Given the description of an element on the screen output the (x, y) to click on. 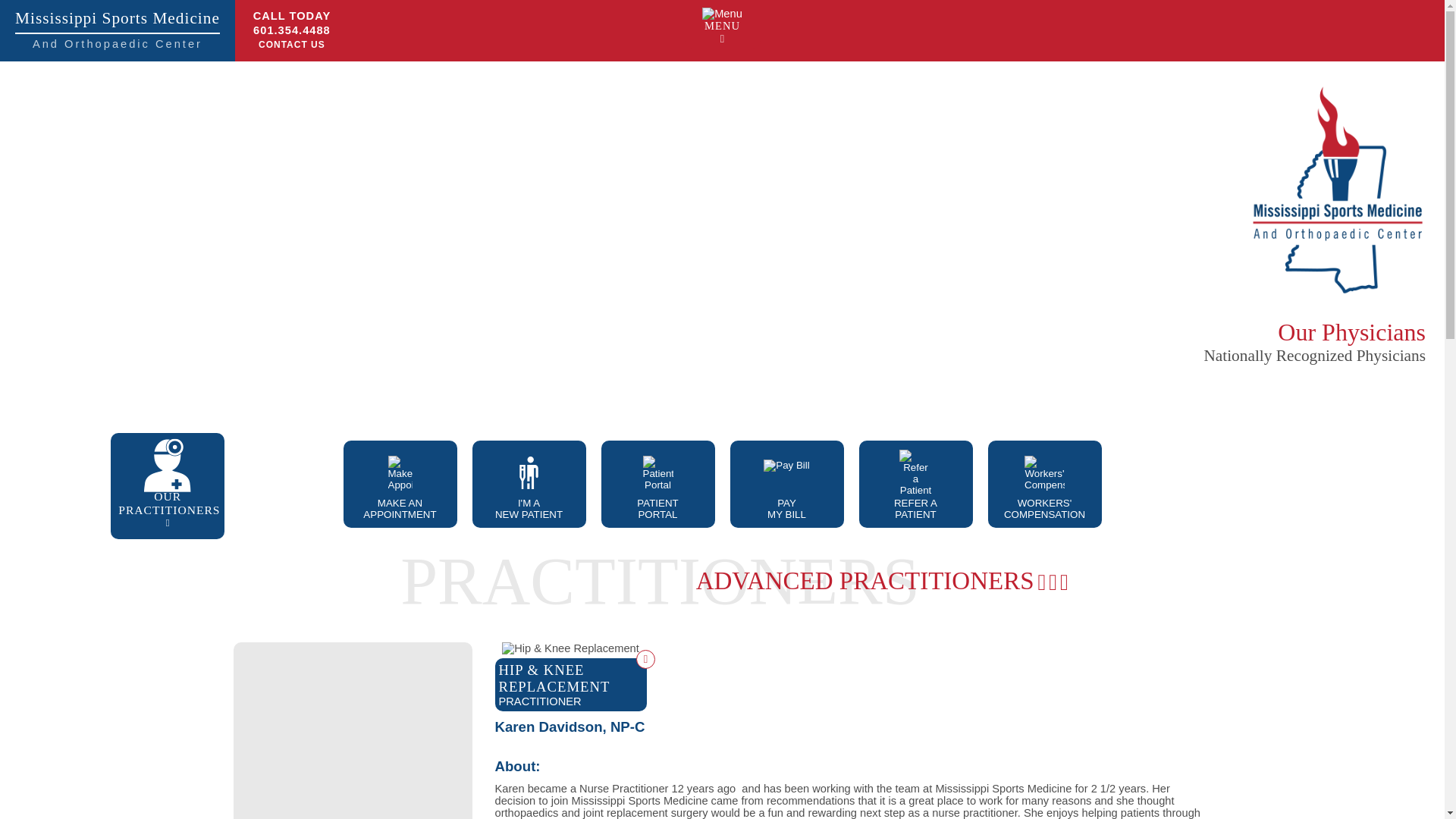
601.354.4488 (291, 30)
CONTACT US (291, 44)
Pay Bill (785, 472)
New Patient (528, 472)
Workers' Compensastion (1044, 472)
Menu (117, 30)
